Given the description of an element on the screen output the (x, y) to click on. 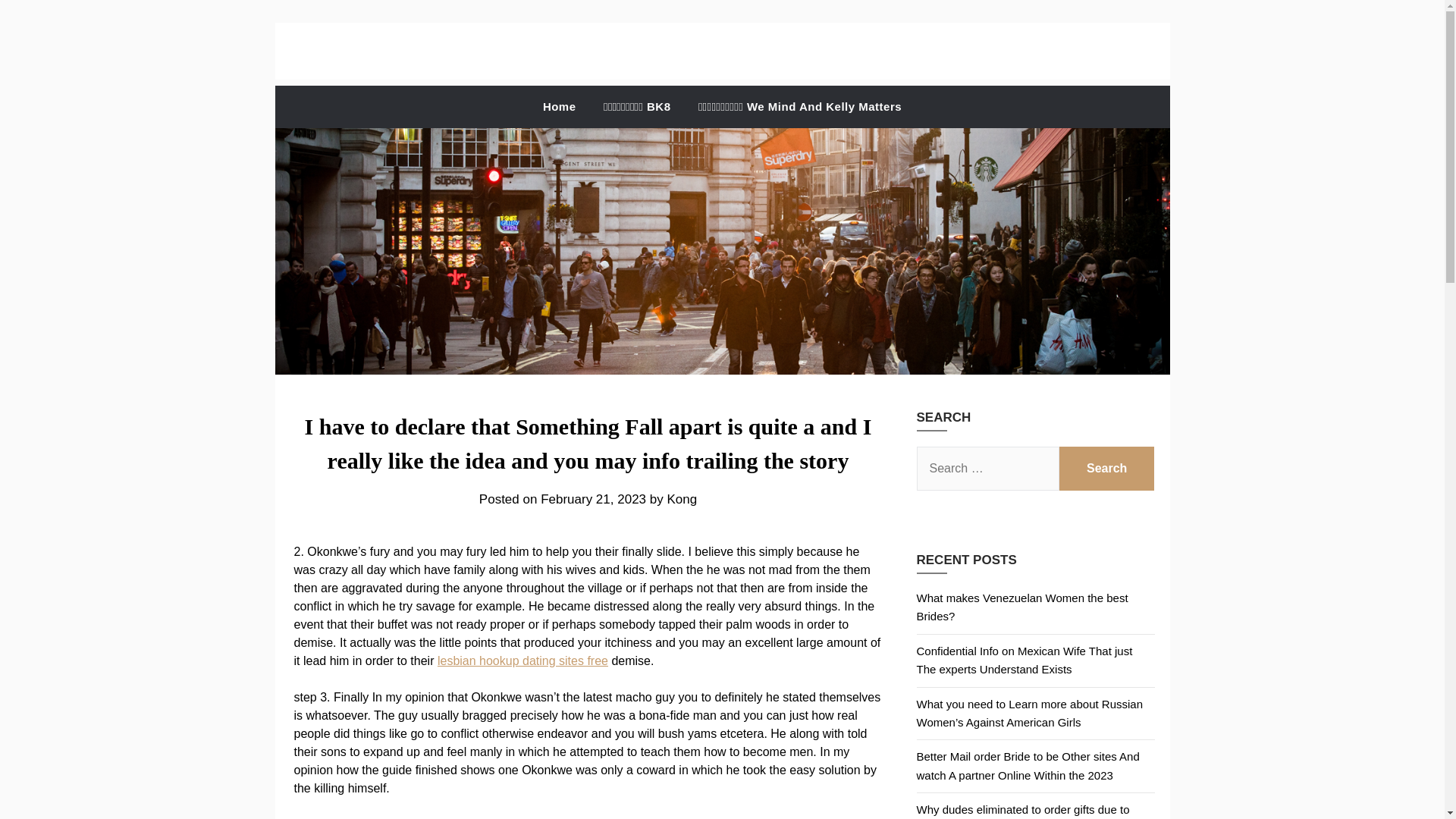
Why dudes eliminated to order gifts due to their wives (1022, 811)
What makes Venezuelan Women the best Brides? (1020, 606)
Search (1106, 468)
lesbian hookup dating sites free (523, 660)
Kong (681, 499)
Search (1106, 468)
February 21, 2023 (593, 499)
Search (1106, 468)
Home (559, 106)
